Given the description of an element on the screen output the (x, y) to click on. 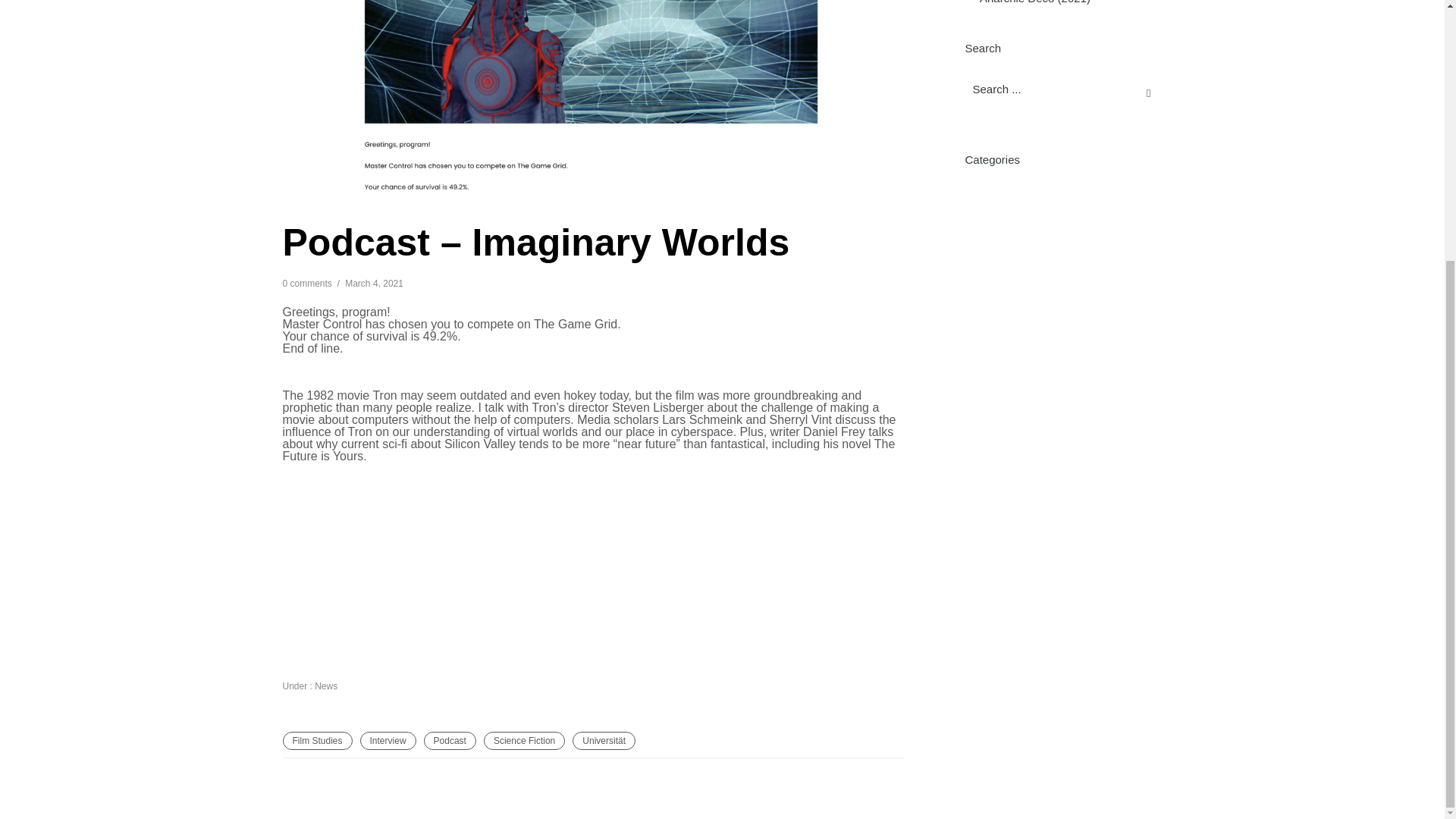
0 comments (306, 283)
Interview (387, 741)
Science Fiction (523, 741)
Podcast (449, 741)
News (325, 685)
Film Studies (317, 741)
